Given the description of an element on the screen output the (x, y) to click on. 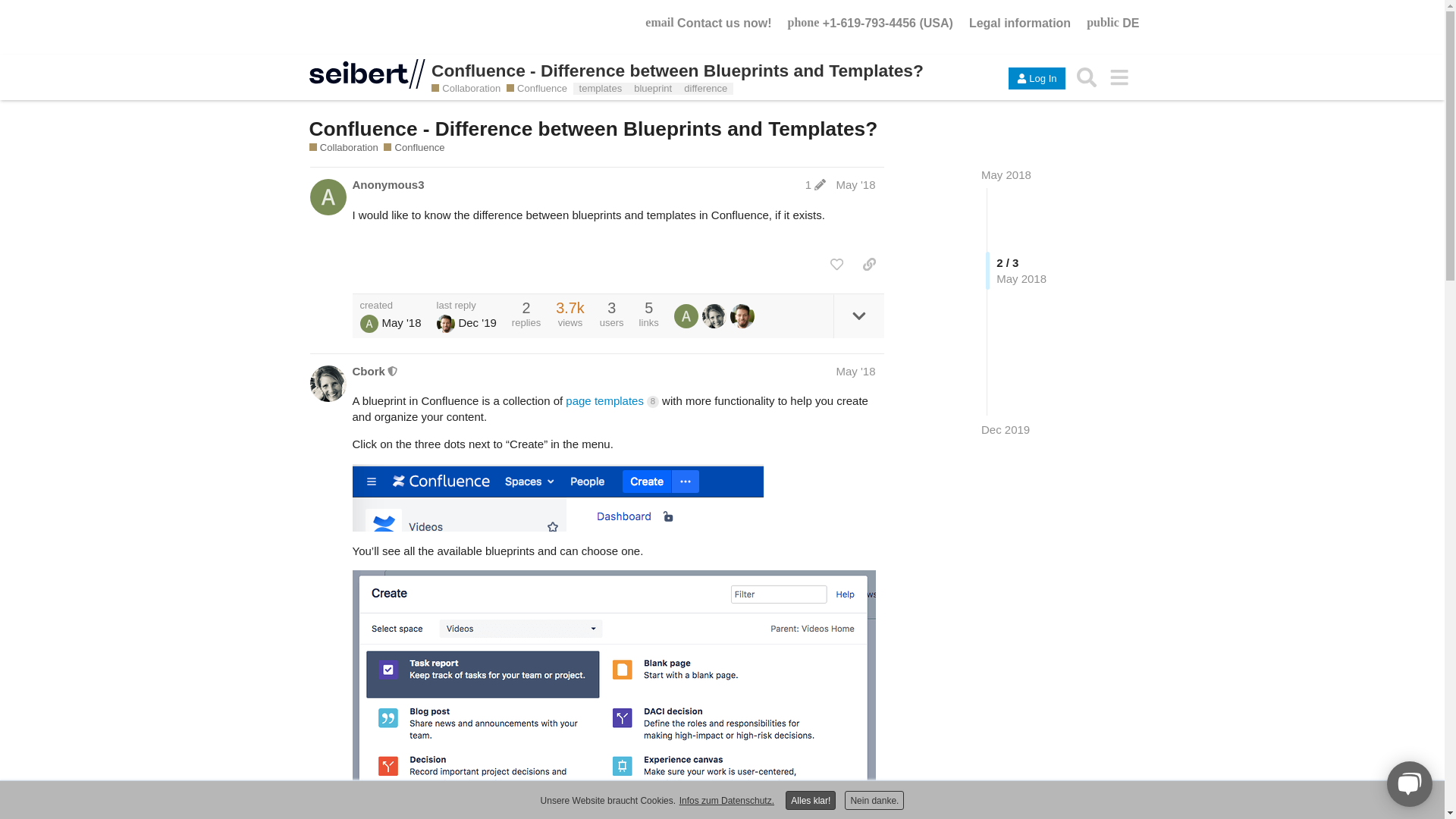
Collaboration (465, 88)
Log In (1036, 78)
Cbork (368, 371)
menu (1119, 77)
Collaboration (343, 147)
Confluence (414, 147)
Adil Nasri (445, 323)
Post date (855, 184)
public DE (1108, 15)
Confluence - Difference between Blueprints and Templates? (708, 70)
May 2, 2018 12:48 am (400, 322)
Search (1086, 77)
1 (814, 184)
last reply (466, 305)
blueprint (652, 88)
